Given the description of an element on the screen output the (x, y) to click on. 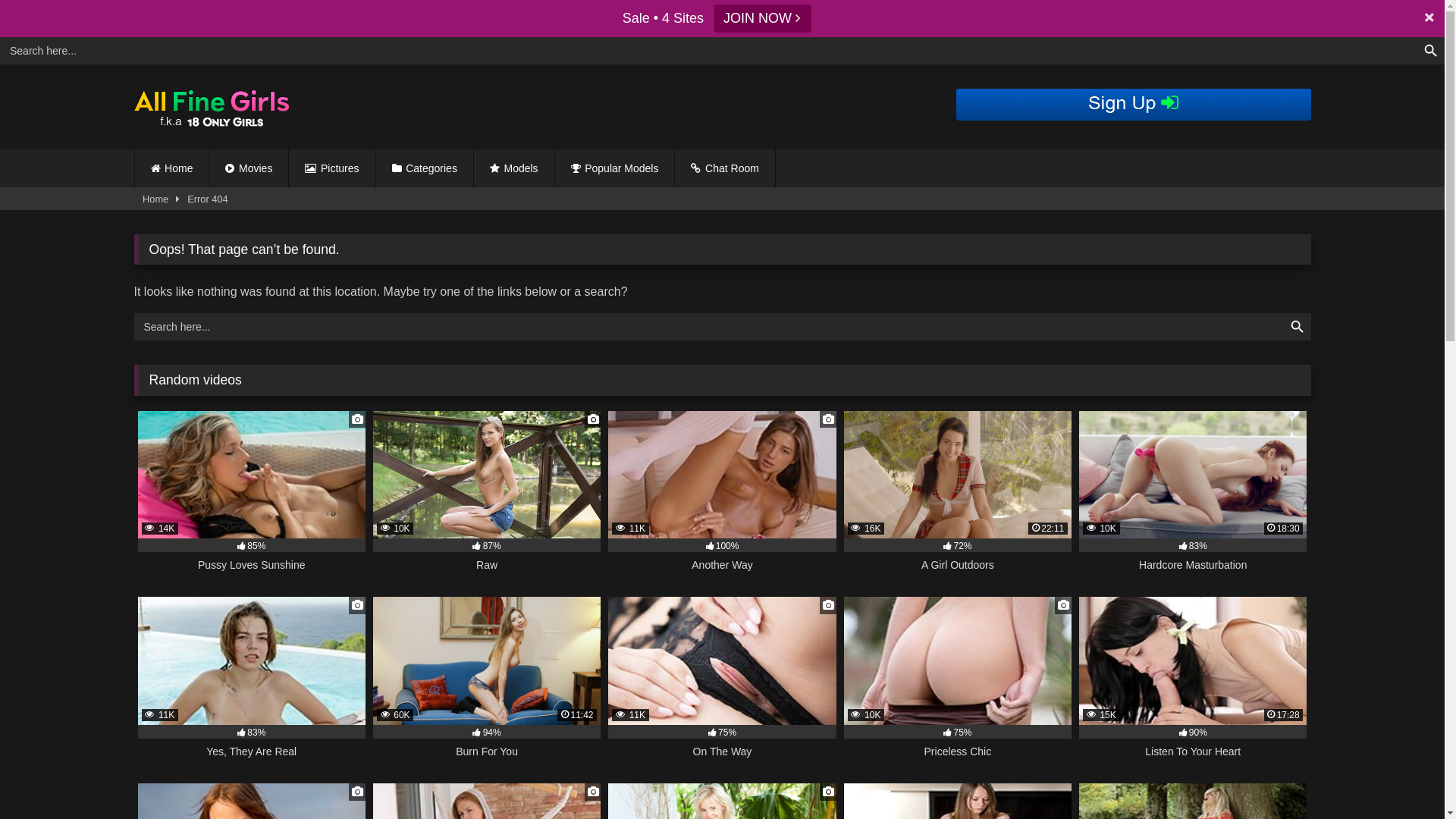
60K
11:42
94%
Burn For You Element type: text (486, 685)
16K
22:11
72%
A Girl Outdoors Element type: text (957, 500)
11K
75%
On The Way Element type: text (721, 685)
14K
85%
Pussy Loves Sunshine Element type: text (251, 500)
Home Element type: text (155, 199)
Categories Element type: text (424, 168)
10K
18:30
83%
Hardcore Masturbation Element type: text (1192, 500)
All Fine Girls Element type: hover (217, 106)
15K
17:28
90%
Listen To Your Heart Element type: text (1192, 685)
Chat Room Element type: text (724, 168)
JOIN NOW Element type: text (762, 18)
10K
75%
Priceless Chic Element type: text (957, 685)
Search Button Element type: text (1430, 50)
11K
100%
Another Way Element type: text (721, 500)
Popular Models Element type: text (614, 168)
11K
83%
Yes, They Are Real Element type: text (251, 685)
Models Element type: text (513, 168)
Pictures Element type: text (331, 168)
Movies Element type: text (248, 168)
Home Element type: text (171, 168)
10K
87%
Raw Element type: text (486, 500)
Search Button Element type: text (1296, 326)
